Given the description of an element on the screen output the (x, y) to click on. 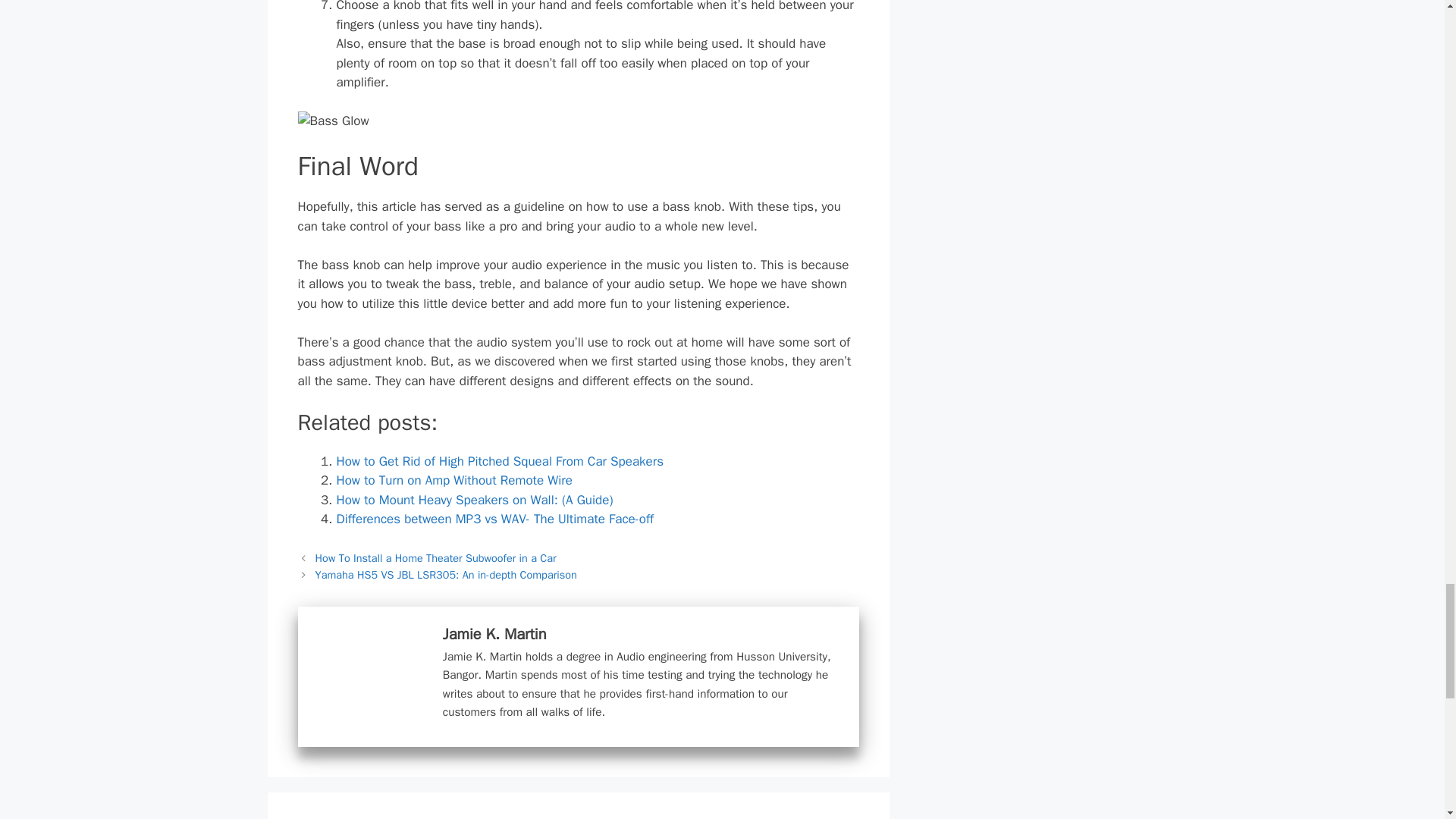
Yamaha HS5 VS JBL LSR305: An in-depth Comparison (445, 574)
How To Install a Home Theater Subwoofer in a Car (435, 558)
Differences between MP3 vs WAV- The Ultimate Face-off (494, 519)
How to Get Rid of High Pitched Squeal From Car Speakers (499, 461)
How to Turn on Amp Without Remote Wire (454, 480)
Differences between MP3 vs WAV- The Ultimate Face-off (494, 519)
How to Turn on Amp Without Remote Wire (454, 480)
How to Get Rid of High Pitched Squeal From Car Speakers (499, 461)
Gravatar for Jamie K. Martin (367, 678)
